Given the description of an element on the screen output the (x, y) to click on. 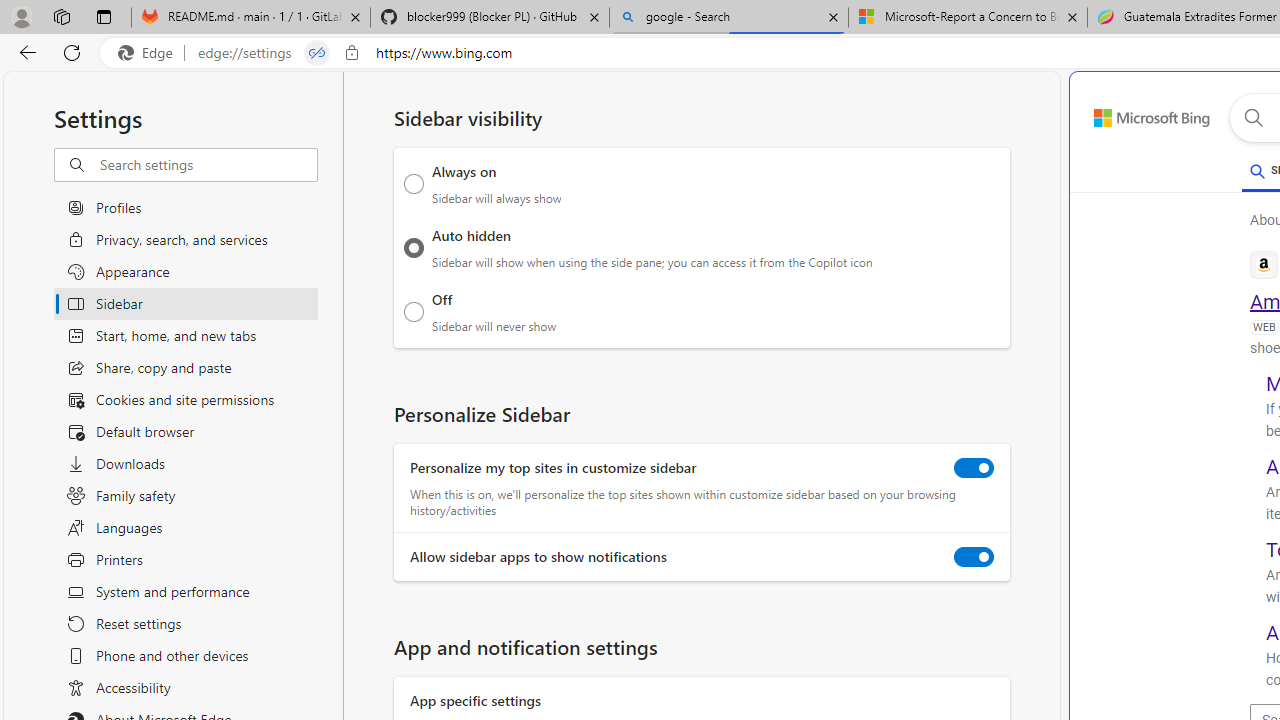
Search (1253, 117)
Close tab (1072, 16)
Refresh (72, 52)
View site information (351, 53)
Skip to content (1130, 111)
Back (24, 52)
Off Sidebar will never show (413, 311)
Search button (1253, 117)
Tab actions menu (104, 16)
Personal Profile (21, 16)
Workspaces (61, 16)
Edge (150, 53)
